Given the description of an element on the screen output the (x, y) to click on. 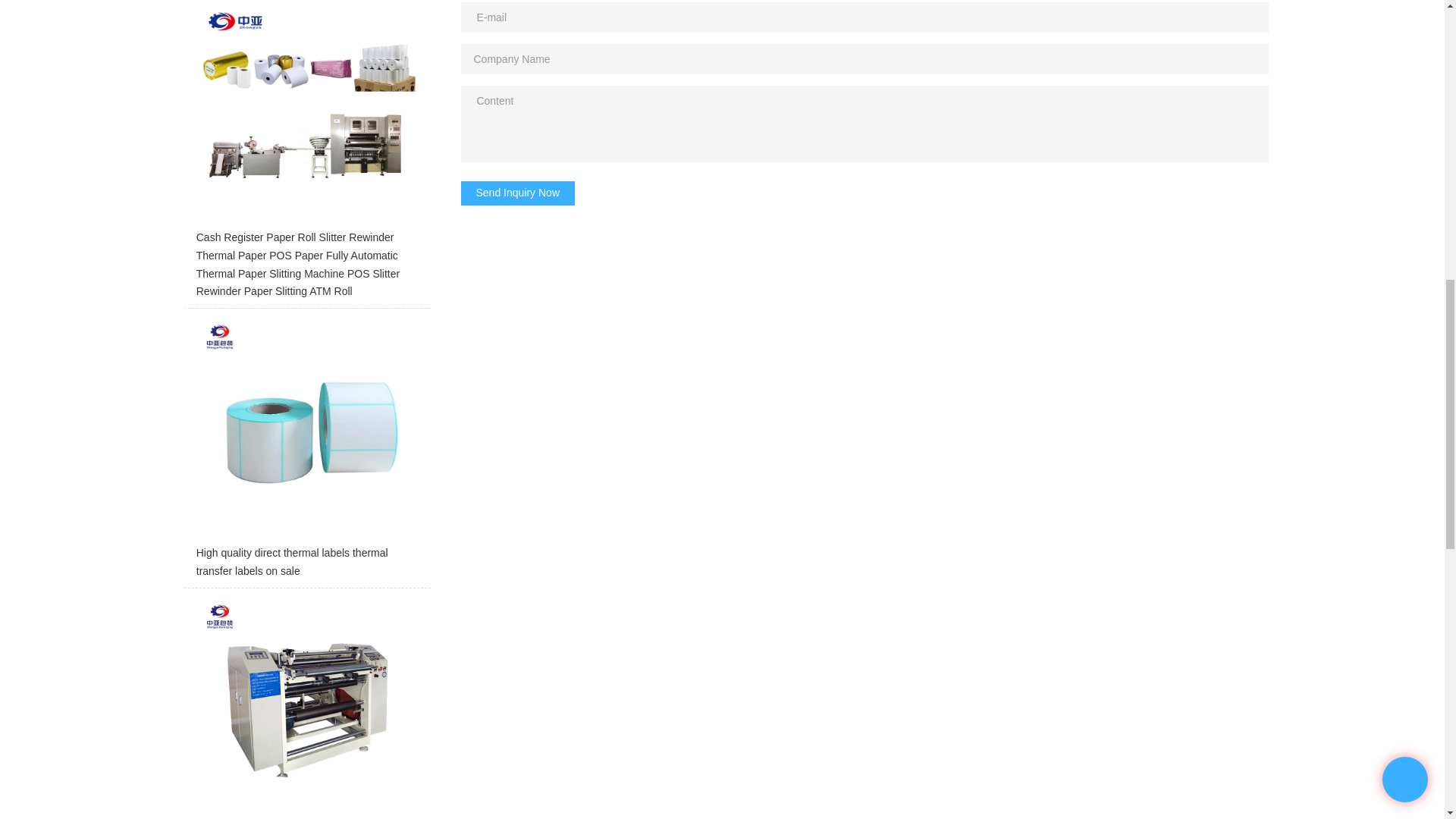
Send Inquiry Now (518, 192)
